Given the description of an element on the screen output the (x, y) to click on. 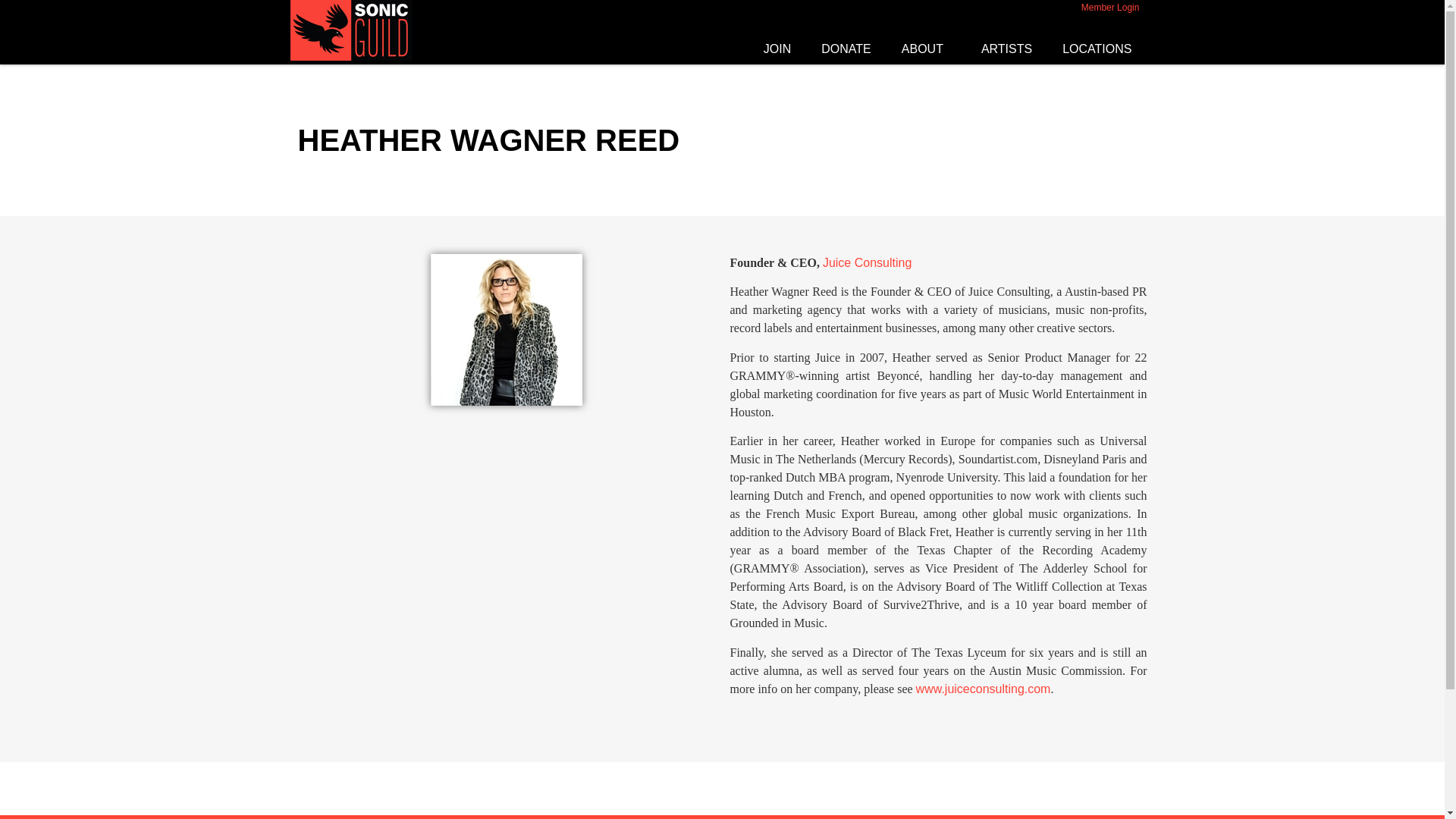
ABOUT (926, 48)
Member Login (1109, 7)
DONATE (845, 48)
LOCATIONS (1100, 48)
JOIN (777, 48)
ARTISTS (1006, 48)
